Given the description of an element on the screen output the (x, y) to click on. 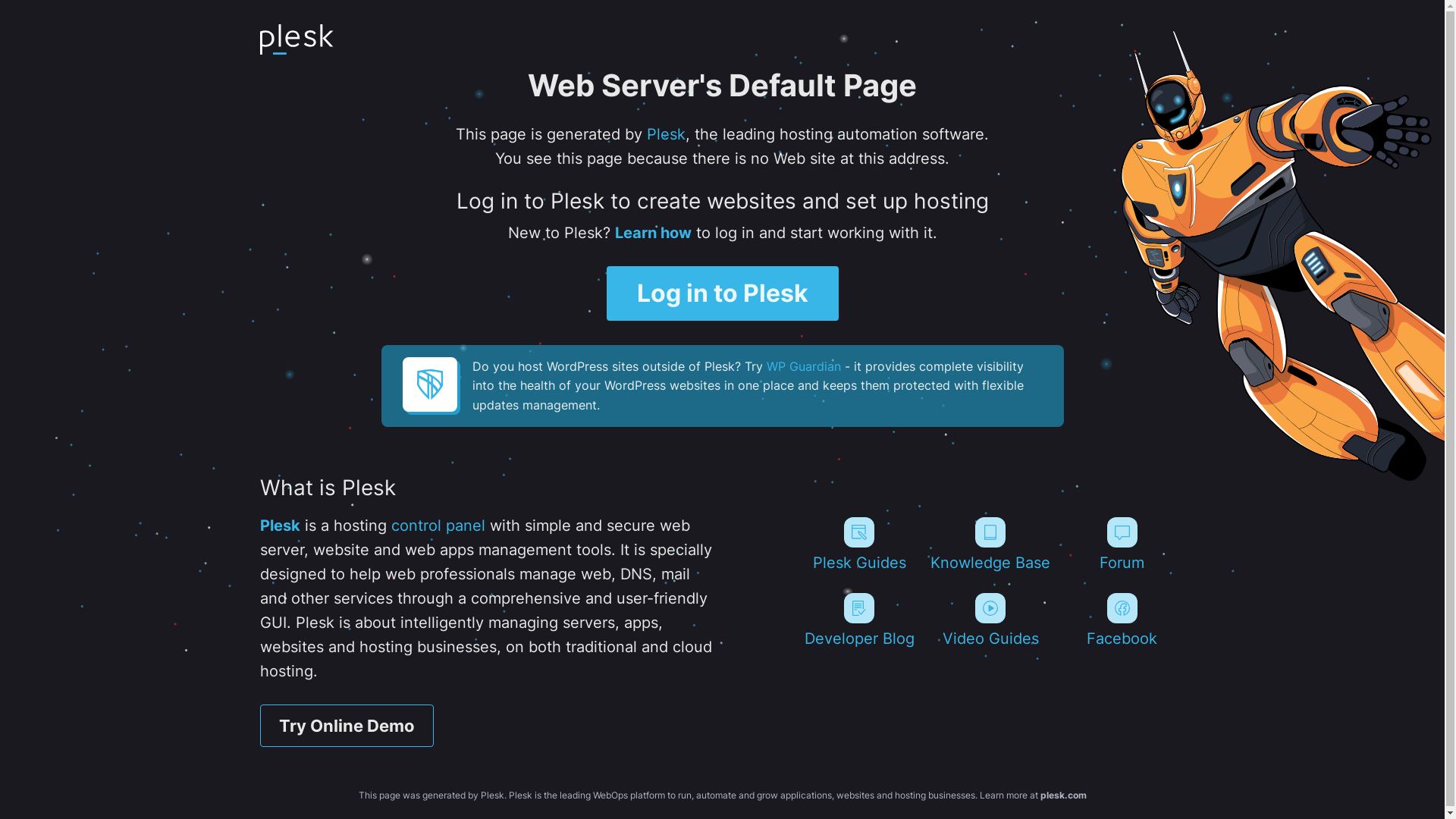
Facebook Element type: text (1121, 620)
control panel Element type: text (438, 525)
Log in to Plesk Element type: text (722, 293)
Plesk Element type: text (665, 134)
WP Guardian Element type: text (802, 365)
plesk.com Element type: text (1063, 794)
Plesk Element type: text (279, 525)
Video Guides Element type: text (990, 620)
Forum Element type: text (1121, 544)
Knowledge Base Element type: text (990, 544)
Try Online Demo Element type: text (346, 725)
Learn how Element type: text (652, 232)
Plesk Guides Element type: text (858, 544)
Developer Blog Element type: text (858, 620)
